Given the description of an element on the screen output the (x, y) to click on. 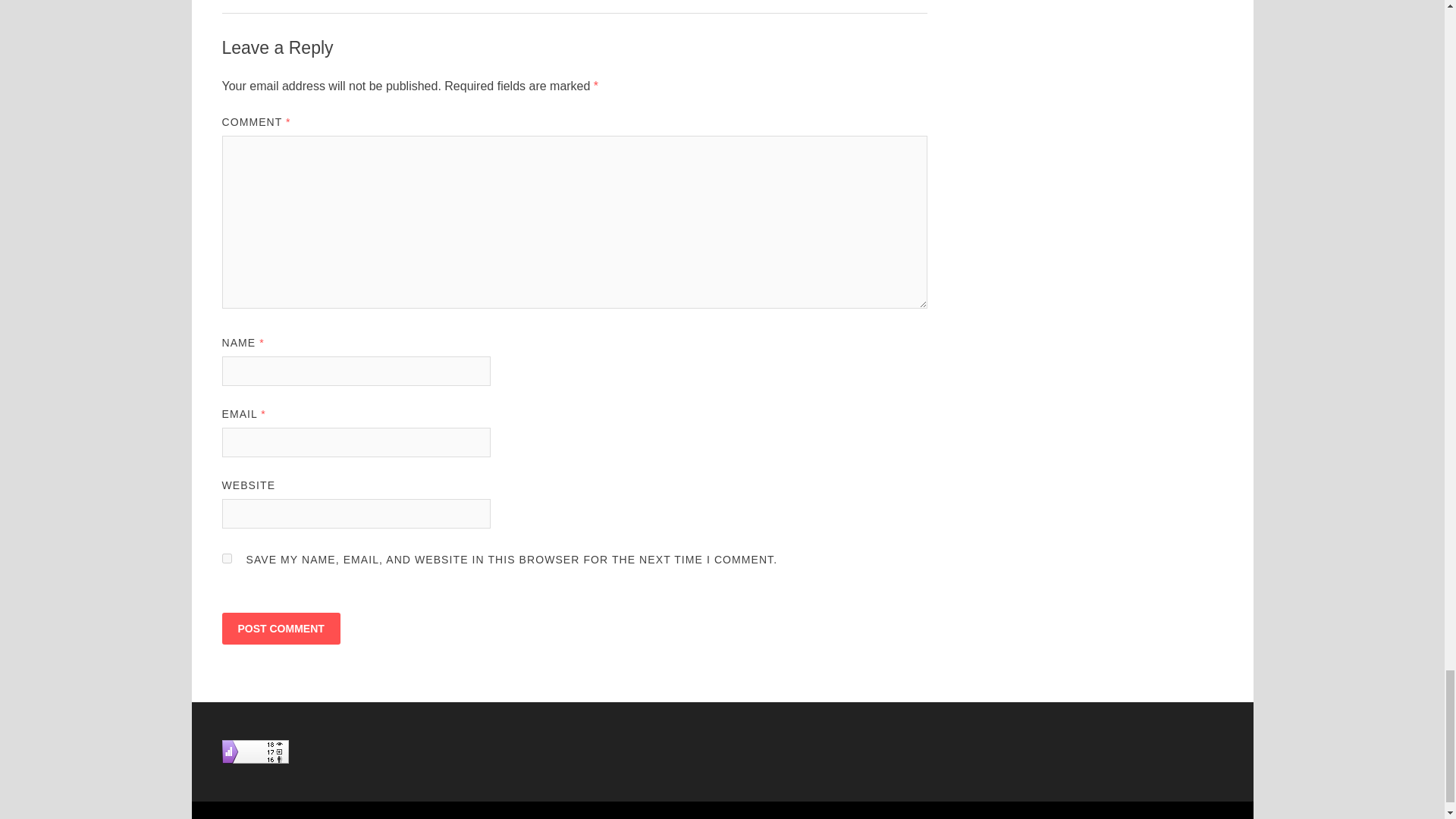
yes (226, 558)
Post Comment (280, 628)
Post Comment (280, 628)
